Given the description of an element on the screen output the (x, y) to click on. 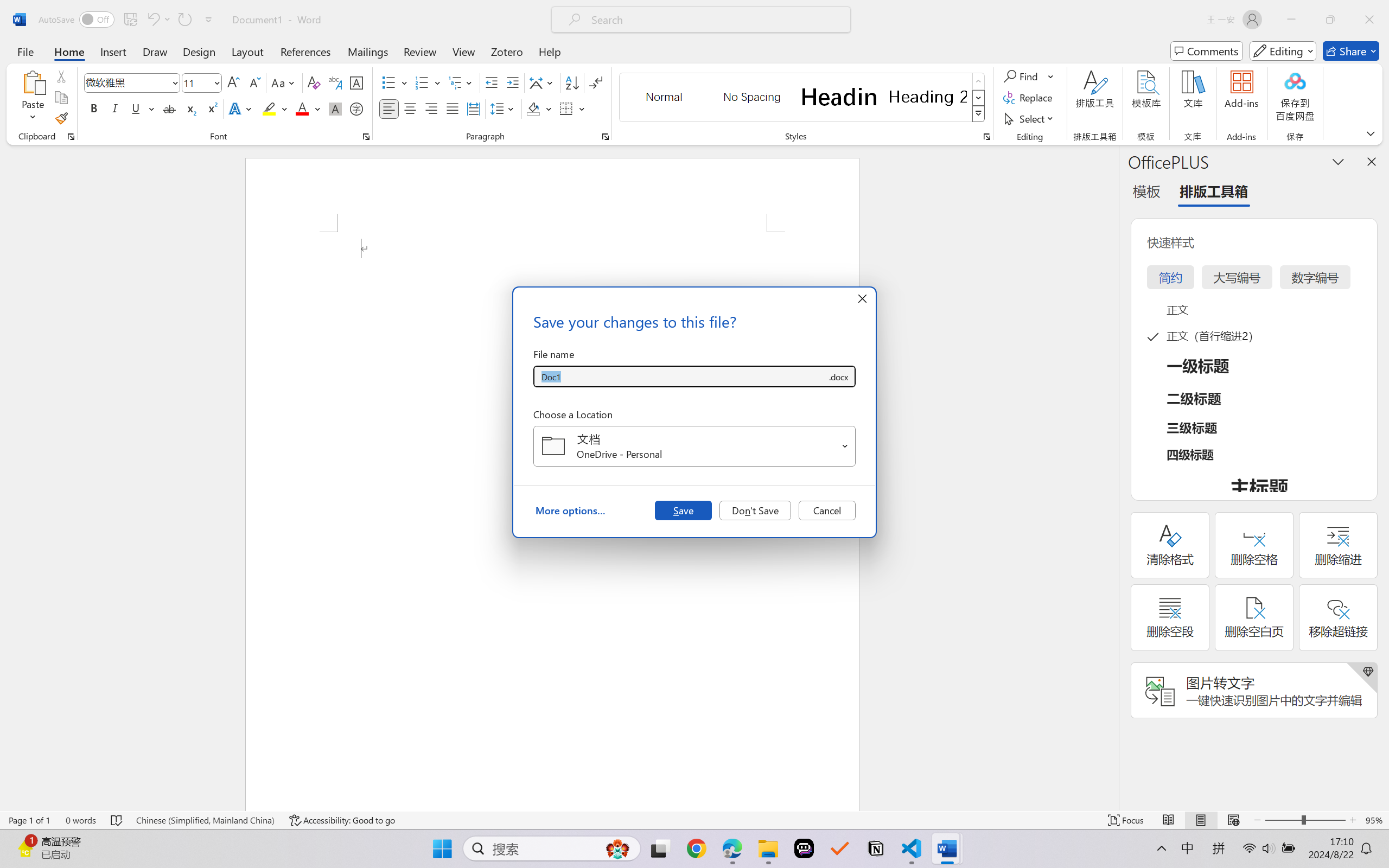
Font Color Red (302, 108)
File name (680, 376)
